Given the description of an element on the screen output the (x, y) to click on. 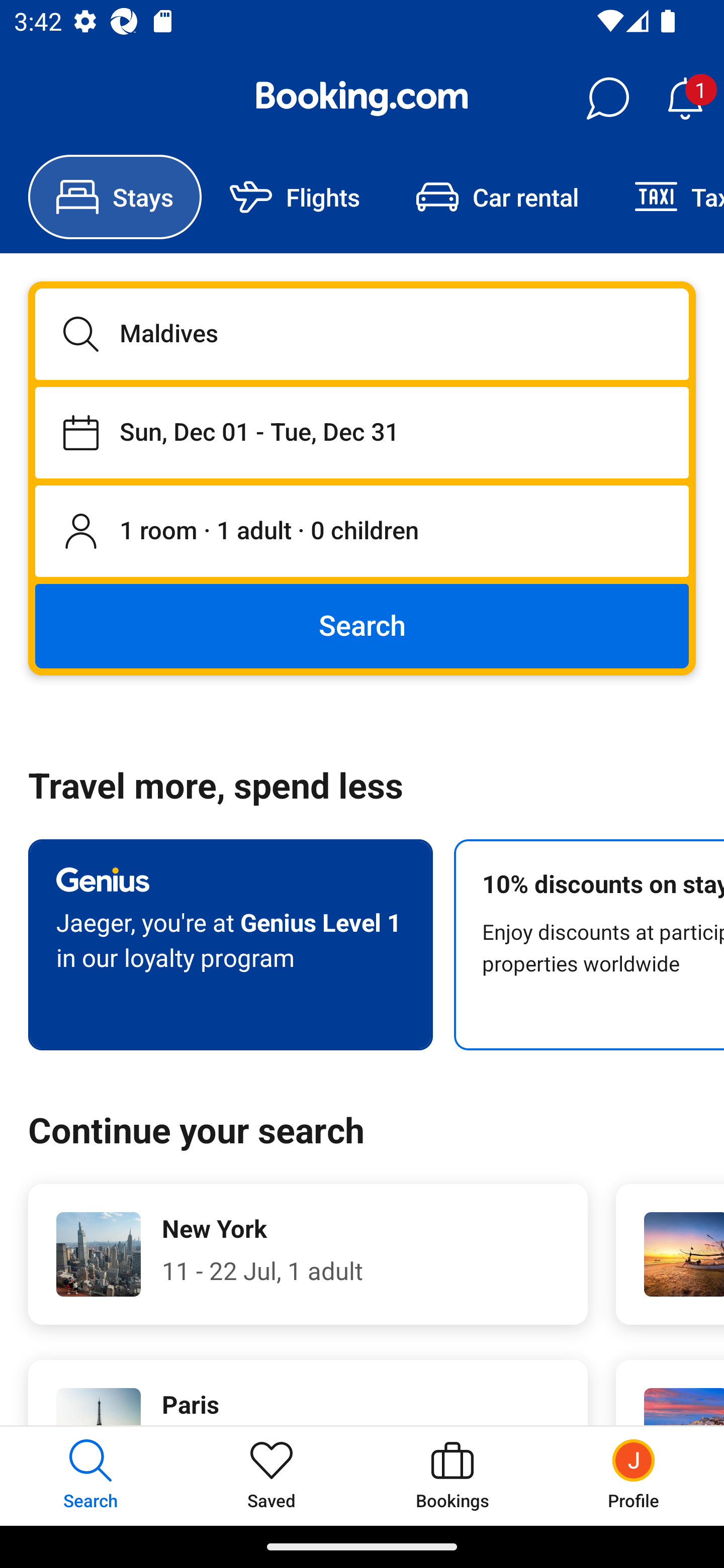
Messages (607, 98)
Notifications (685, 98)
Stays (114, 197)
Flights (294, 197)
Car rental (497, 197)
Taxi (665, 197)
Maldives (361, 333)
Staying from Sun, Dec 01 until Tue, Dec 31 (361, 432)
1 room, 1 adult, 0 children (361, 531)
Search (361, 625)
New York 11 - 22 Jul, 1 adult (307, 1253)
Saved (271, 1475)
Bookings (452, 1475)
Profile (633, 1475)
